Given the description of an element on the screen output the (x, y) to click on. 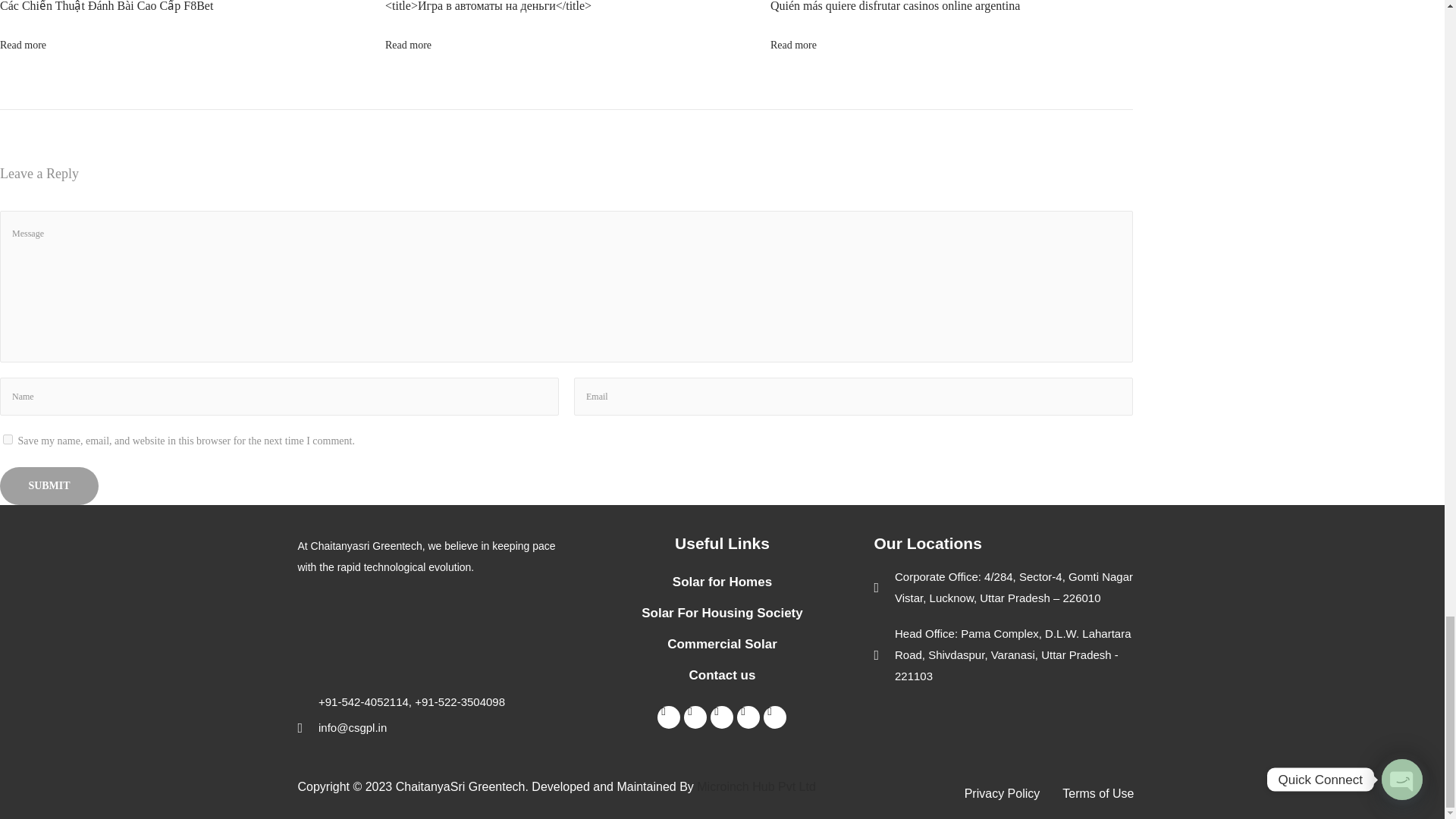
Submit (49, 485)
Read more (793, 44)
Read more (23, 44)
Submit (49, 485)
Read more (407, 44)
yes (7, 439)
